Given the description of an element on the screen output the (x, y) to click on. 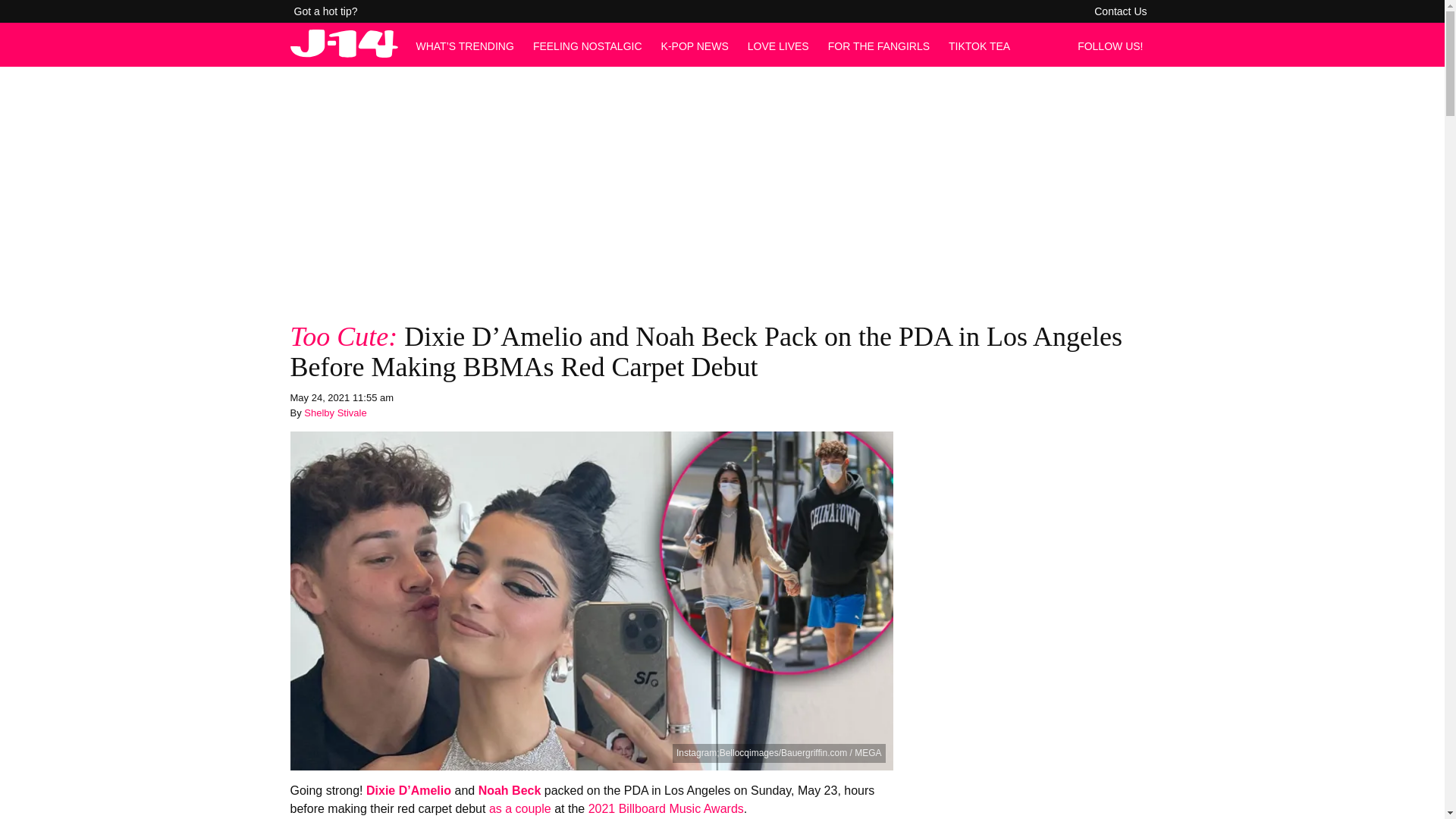
LOVE LIVES (778, 46)
Posts by Shelby Stivale (335, 412)
Got a hot tip? (325, 11)
as a couple (520, 808)
Contact Us (1120, 11)
Noah Beck (510, 789)
FOR THE FANGIRLS (879, 46)
Shelby Stivale (335, 412)
FOLLOW US! (1114, 45)
Home (343, 52)
